Given the description of an element on the screen output the (x, y) to click on. 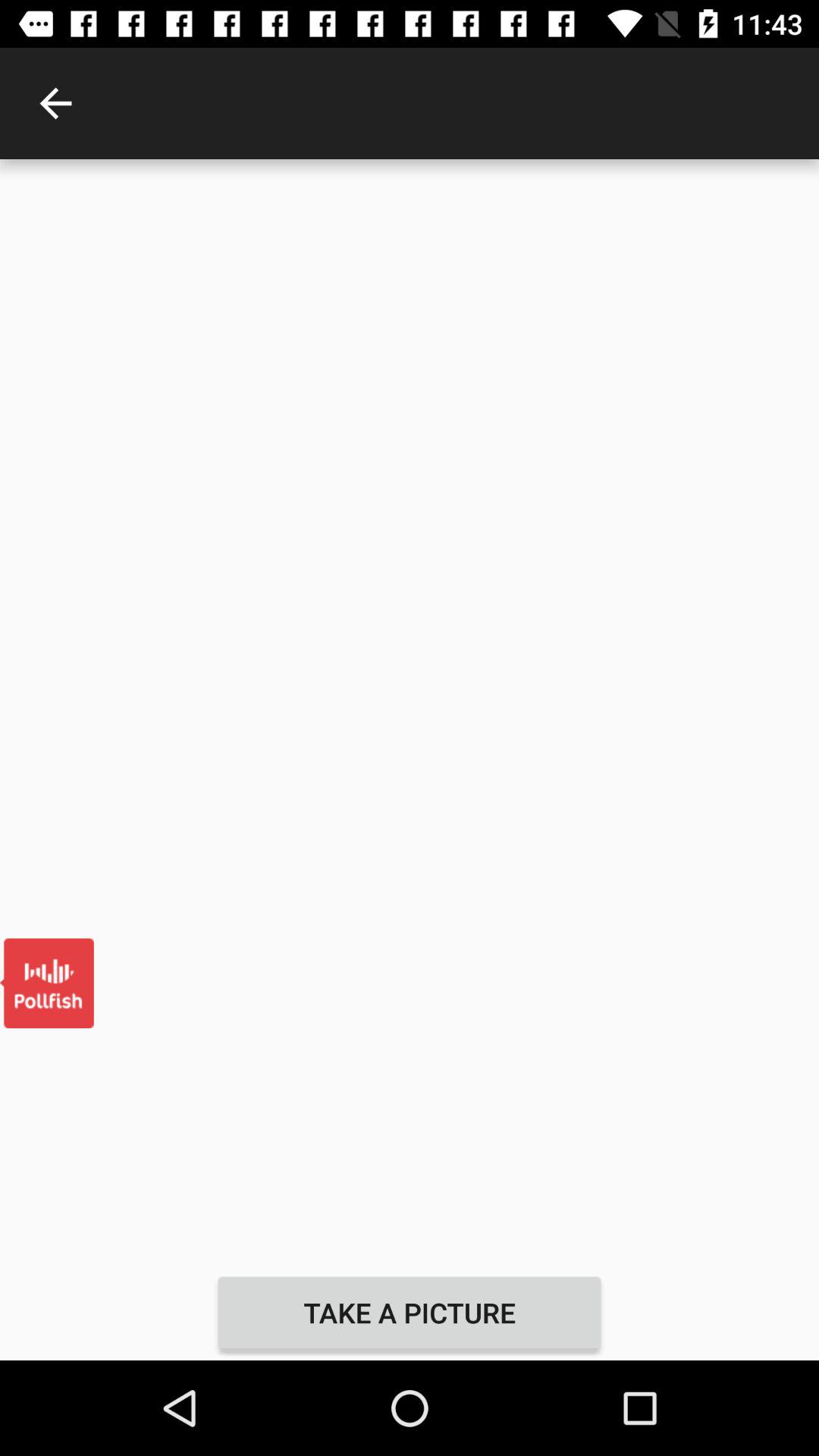
turn off the item at the center (409, 711)
